Given the description of an element on the screen output the (x, y) to click on. 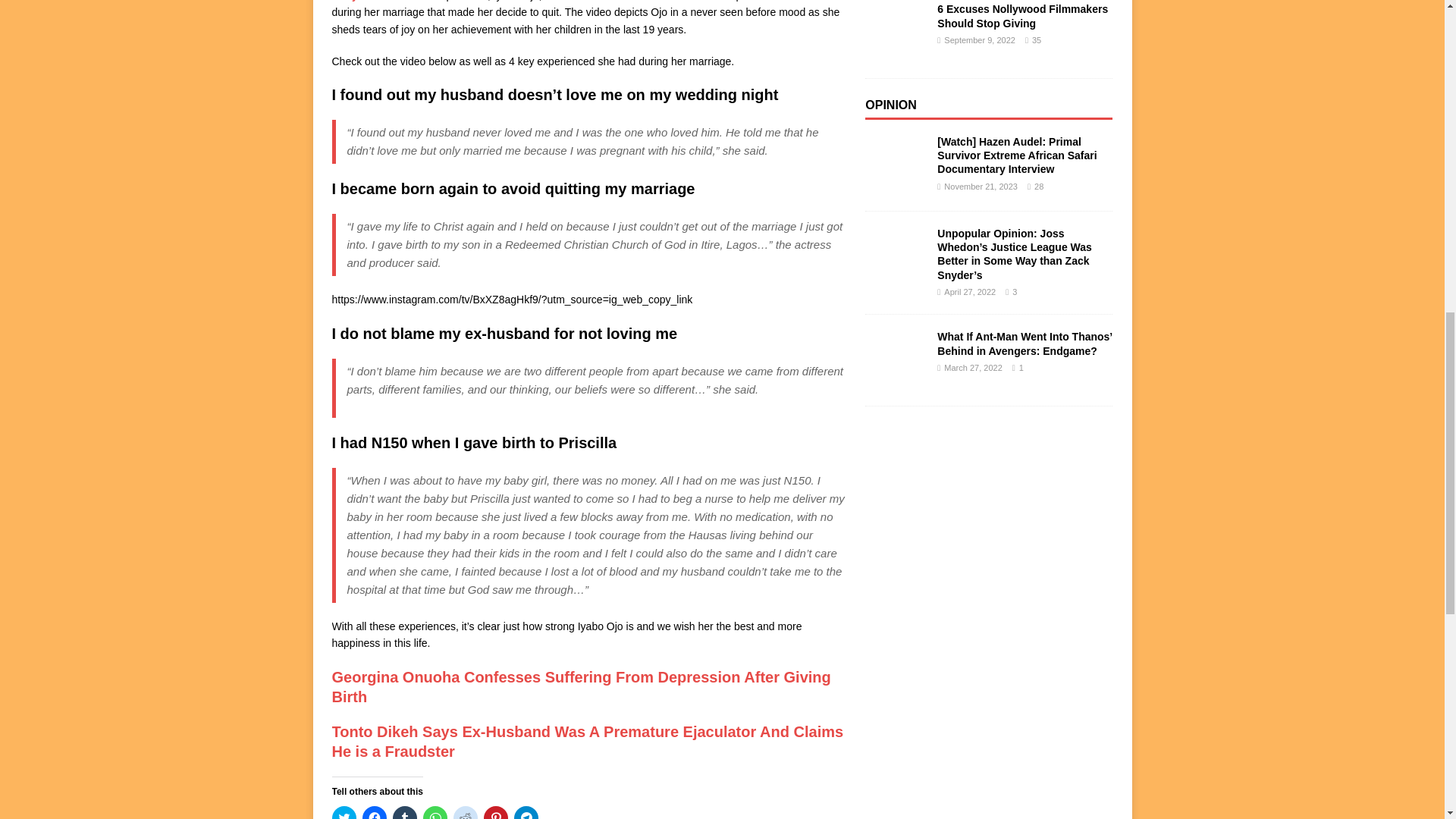
Click to share on Facebook (374, 812)
Click to share on Tumblr (404, 812)
Click to share on Pinterest (495, 812)
Click to share on Twitter (343, 812)
Click to share on Telegram (525, 812)
Nollywood (358, 0)
Click to share on WhatsApp (434, 812)
Click to share on Reddit (464, 812)
